Given the description of an element on the screen output the (x, y) to click on. 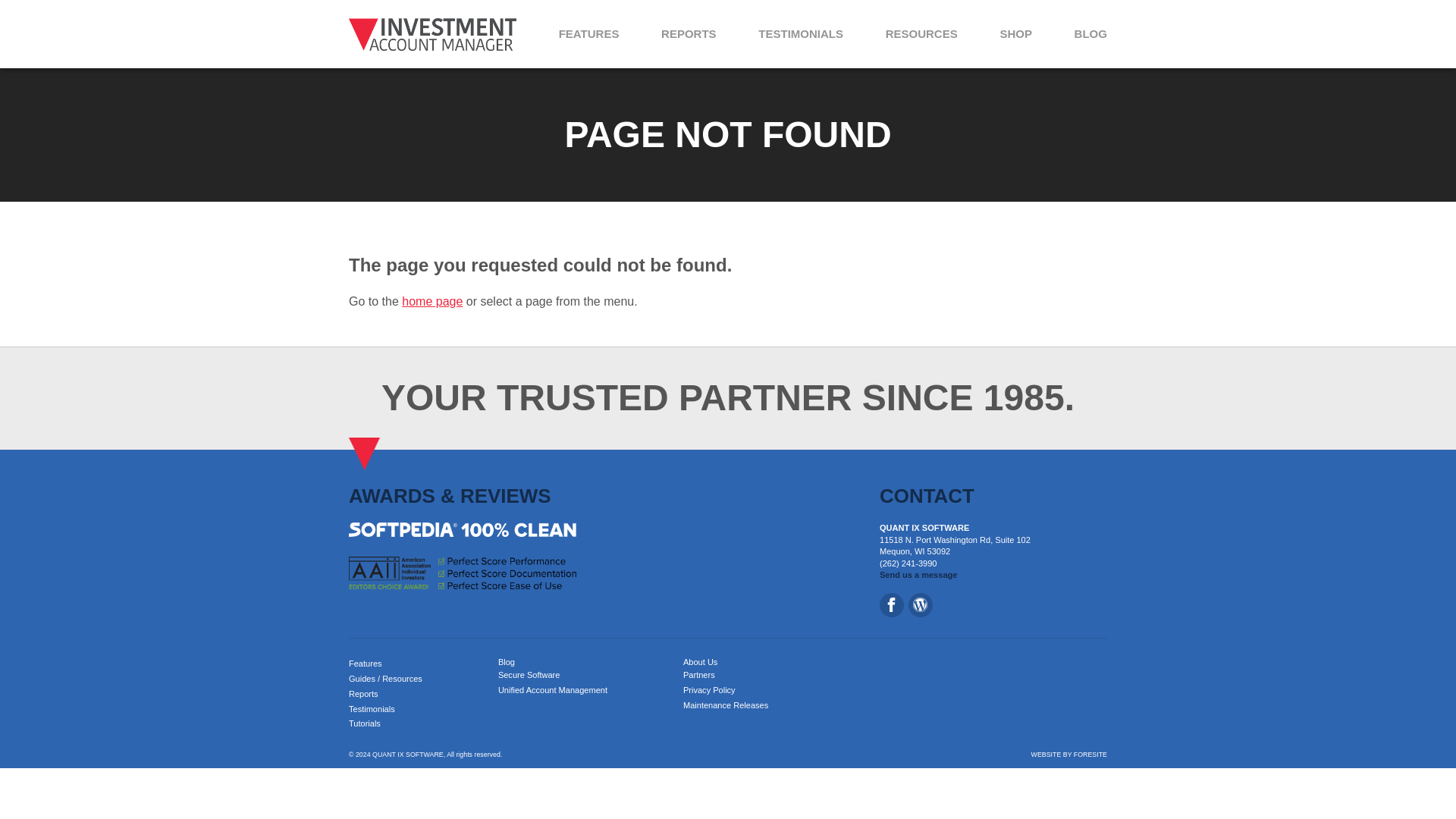
RESOURCES (921, 33)
Reports (363, 693)
Tutorials (364, 723)
About Us (699, 661)
Secure Software (528, 674)
TESTIMONIALS (800, 33)
Blog (506, 661)
Unified Account Management (552, 689)
Testimonials (371, 708)
Maintenance Releases (725, 705)
Send us a message (917, 574)
Privacy Policy (708, 689)
FEATURES (589, 33)
Partners (698, 674)
WEBSITE BY FORESITE (1068, 754)
